Given the description of an element on the screen output the (x, y) to click on. 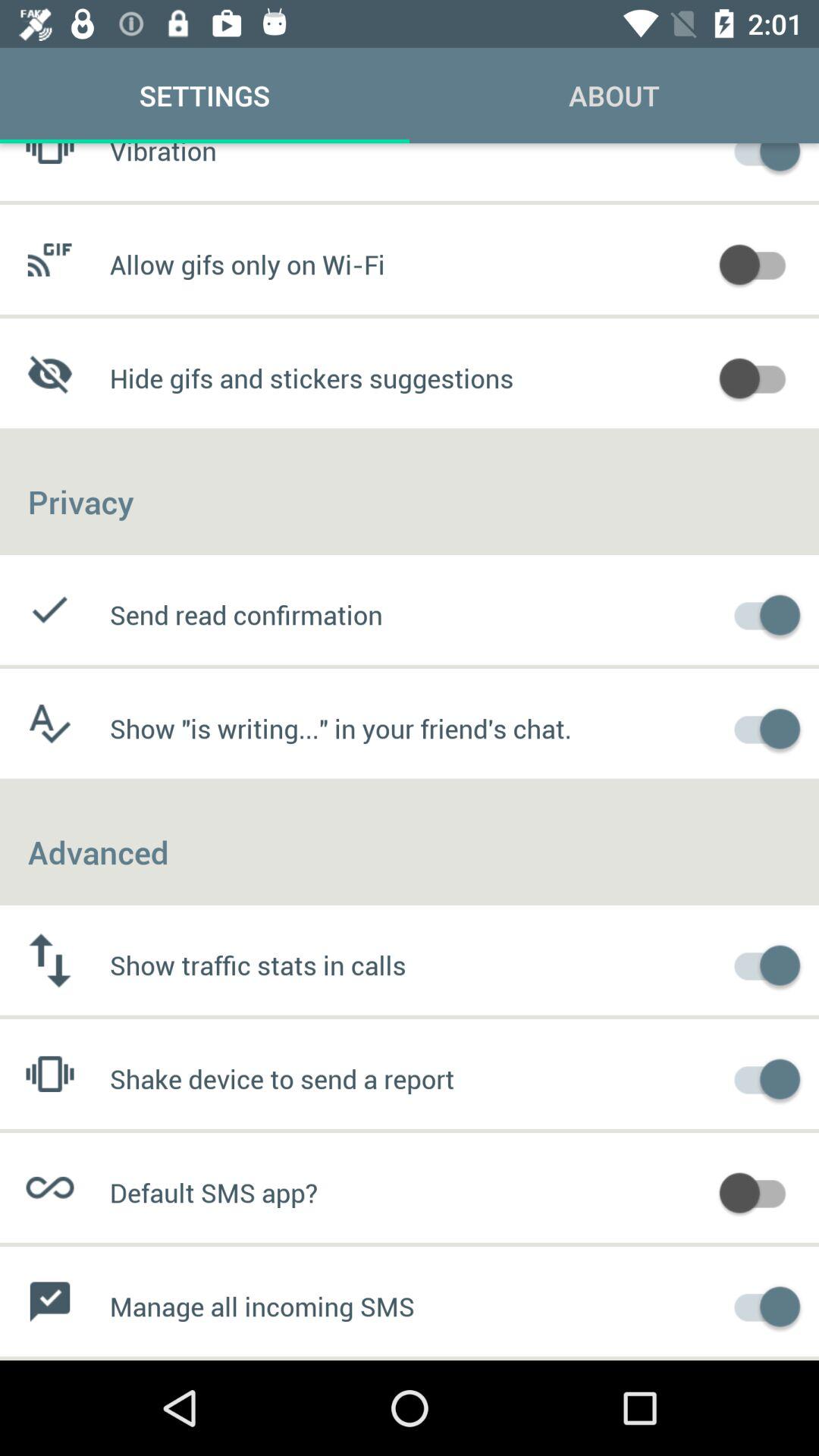
activate send read confirmation (759, 613)
